Given the description of an element on the screen output the (x, y) to click on. 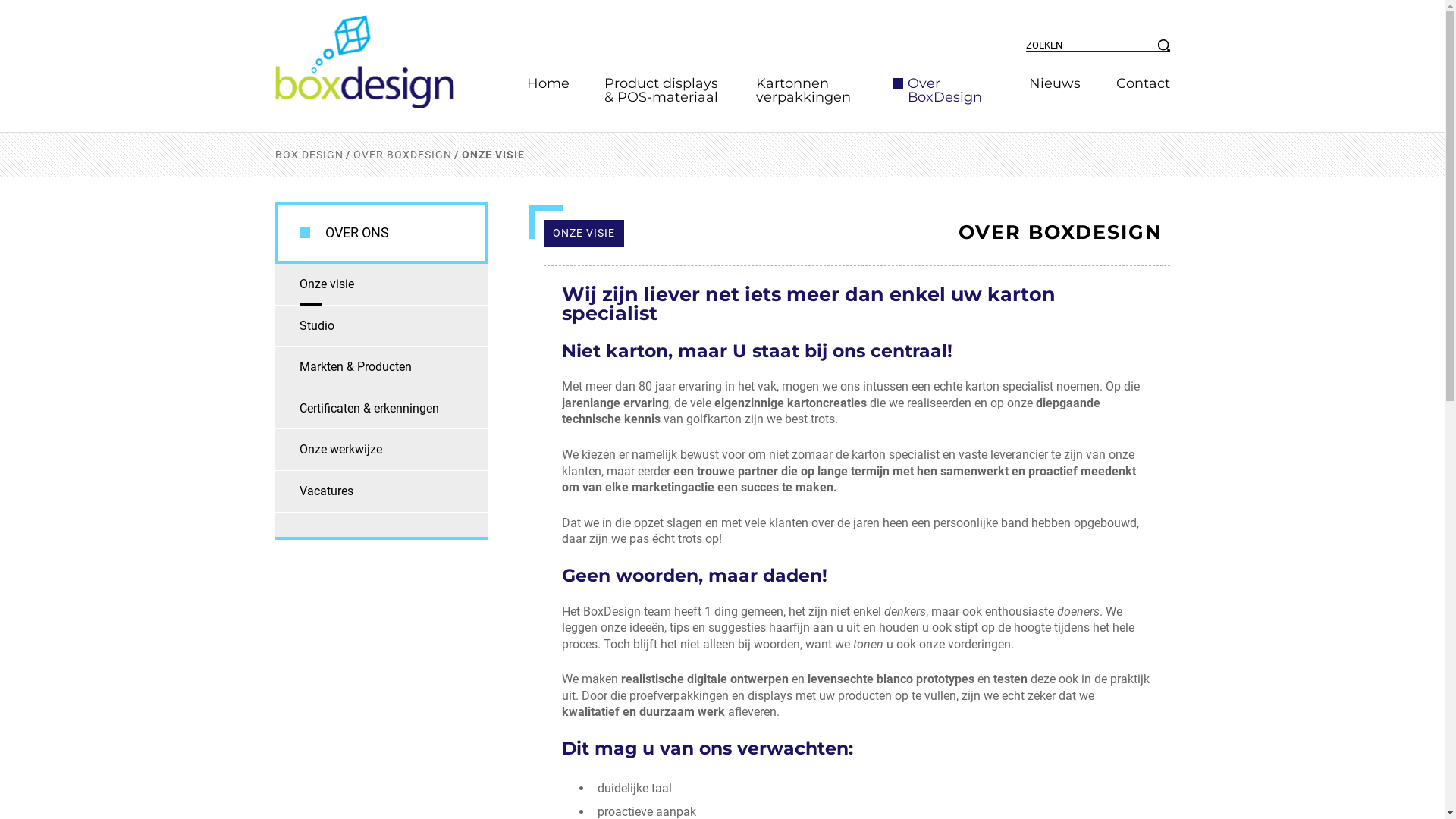
GO Element type: text (1163, 45)
Onze visie Element type: text (380, 283)
Product displays & POS-materiaal Element type: text (662, 89)
Onze werkwijze Element type: text (380, 449)
Studio Element type: text (380, 325)
Home Element type: text (547, 83)
Vacatures Element type: text (380, 490)
Kartonnen verpakkingen Element type: text (814, 89)
Markten & Producten Element type: text (380, 366)
Nieuws Element type: text (1054, 83)
OVER BOXDESIGN Element type: text (402, 154)
Over BoxDesign Element type: text (950, 89)
Contact Element type: text (1133, 83)
Certificaten & erkenningen Element type: text (380, 408)
BOX DESIGN Element type: text (308, 154)
